Given the description of an element on the screen output the (x, y) to click on. 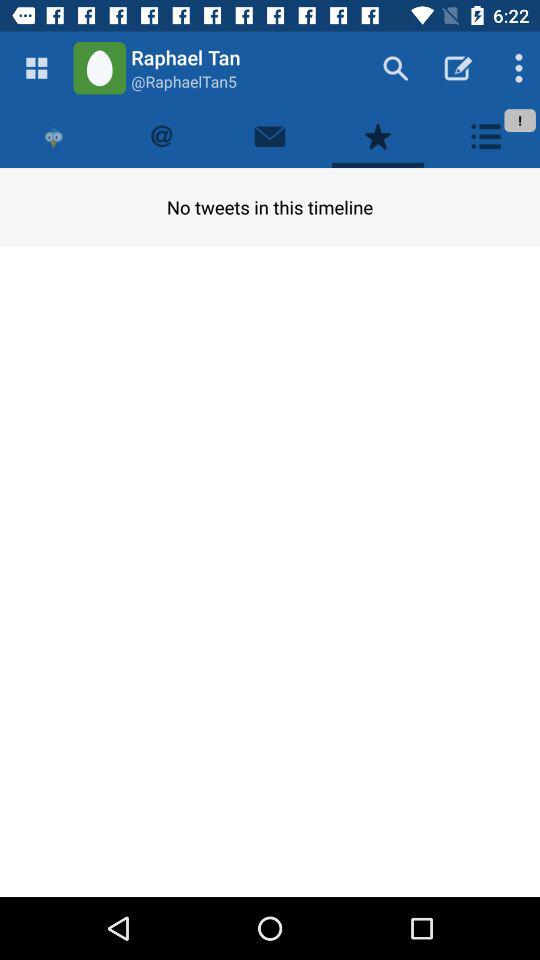
select the icon next to message icon (378, 136)
click on edit icon which is right f search symbol (458, 68)
go to green icon (99, 68)
click on the search button icon (395, 68)
select the more options icon (514, 68)
